Given the description of an element on the screen output the (x, y) to click on. 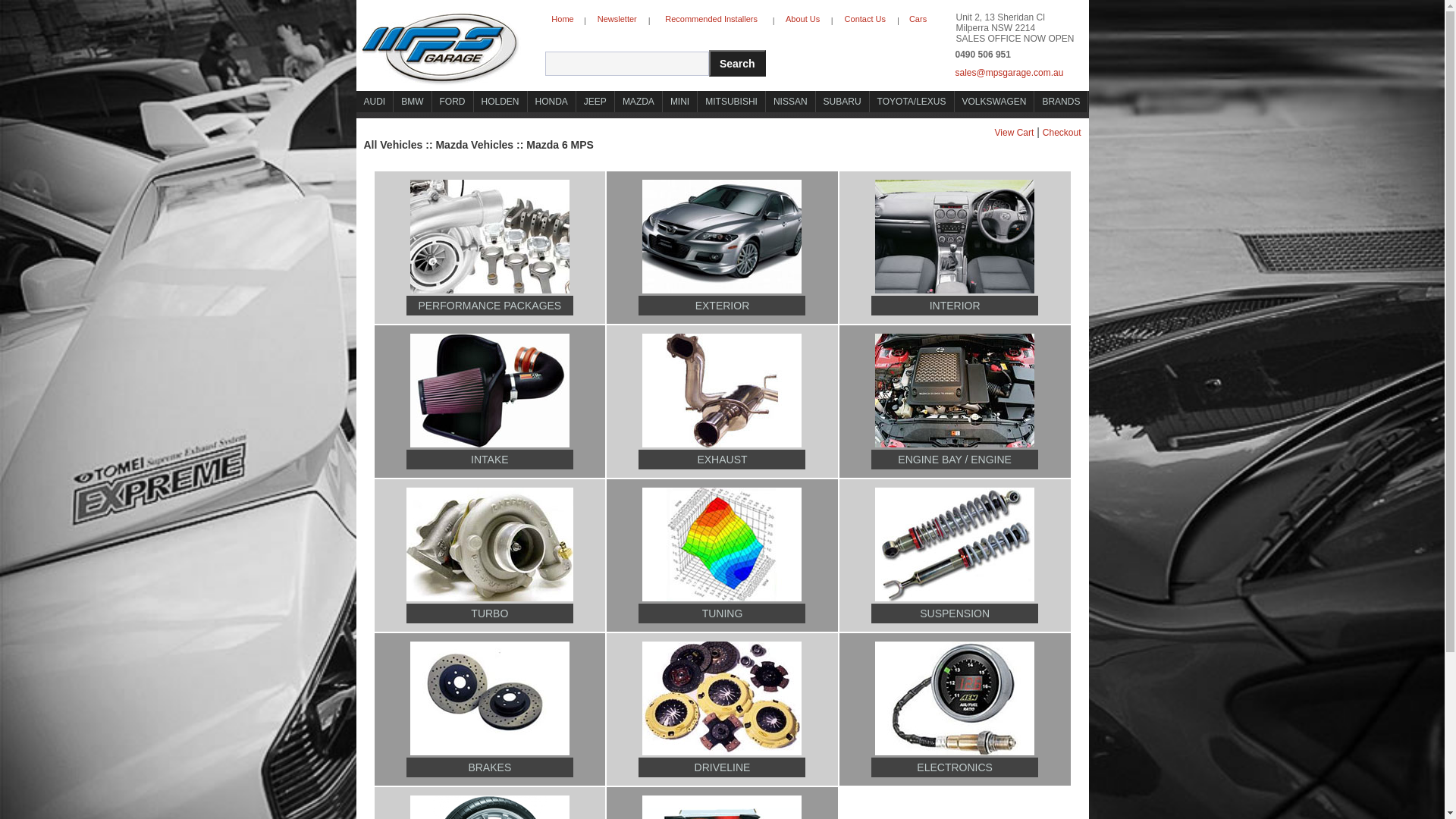
NISSAN Element type: text (790, 101)
PERFORMANCE PACKAGES Element type: text (489, 305)
Checkout Element type: text (1061, 132)
BRANDS Element type: text (1061, 101)
About Us Element type: text (802, 20)
BRAKES Element type: text (489, 767)
Cars Element type: text (918, 20)
FORD Element type: text (452, 101)
ELECTRONICS Element type: text (954, 767)
Home Element type: text (562, 20)
All Vehicles Element type: text (393, 144)
INTERIOR Element type: text (954, 305)
BMW Element type: text (412, 101)
Search Element type: text (737, 63)
INTAKE Element type: text (489, 459)
EXTERIOR Element type: text (722, 305)
MITSUBISHI Element type: text (731, 101)
Newsletter Element type: text (617, 20)
Mazda Vehicles Element type: text (474, 144)
MINI Element type: text (679, 101)
EXHAUST Element type: text (721, 459)
VOLKSWAGEN Element type: text (994, 101)
HONDA Element type: text (551, 101)
AUDI Element type: text (375, 101)
DRIVELINE Element type: text (722, 767)
SUBARU Element type: text (842, 101)
View Cart Element type: text (1014, 132)
SUSPENSION Element type: text (954, 613)
Mazda 6 MPS Element type: text (559, 144)
JEEP Element type: text (595, 101)
ENGINE BAY / ENGINE Element type: text (954, 459)
Contact Us Element type: text (864, 20)
TUNING Element type: text (722, 613)
Recommended Installers Element type: text (710, 20)
HOLDEN Element type: text (500, 101)
sales@mpsgarage.com.au Element type: text (1020, 92)
MAZDA Element type: text (638, 101)
TOYOTA/LEXUS Element type: text (911, 101)
TURBO Element type: text (489, 613)
